Given the description of an element on the screen output the (x, y) to click on. 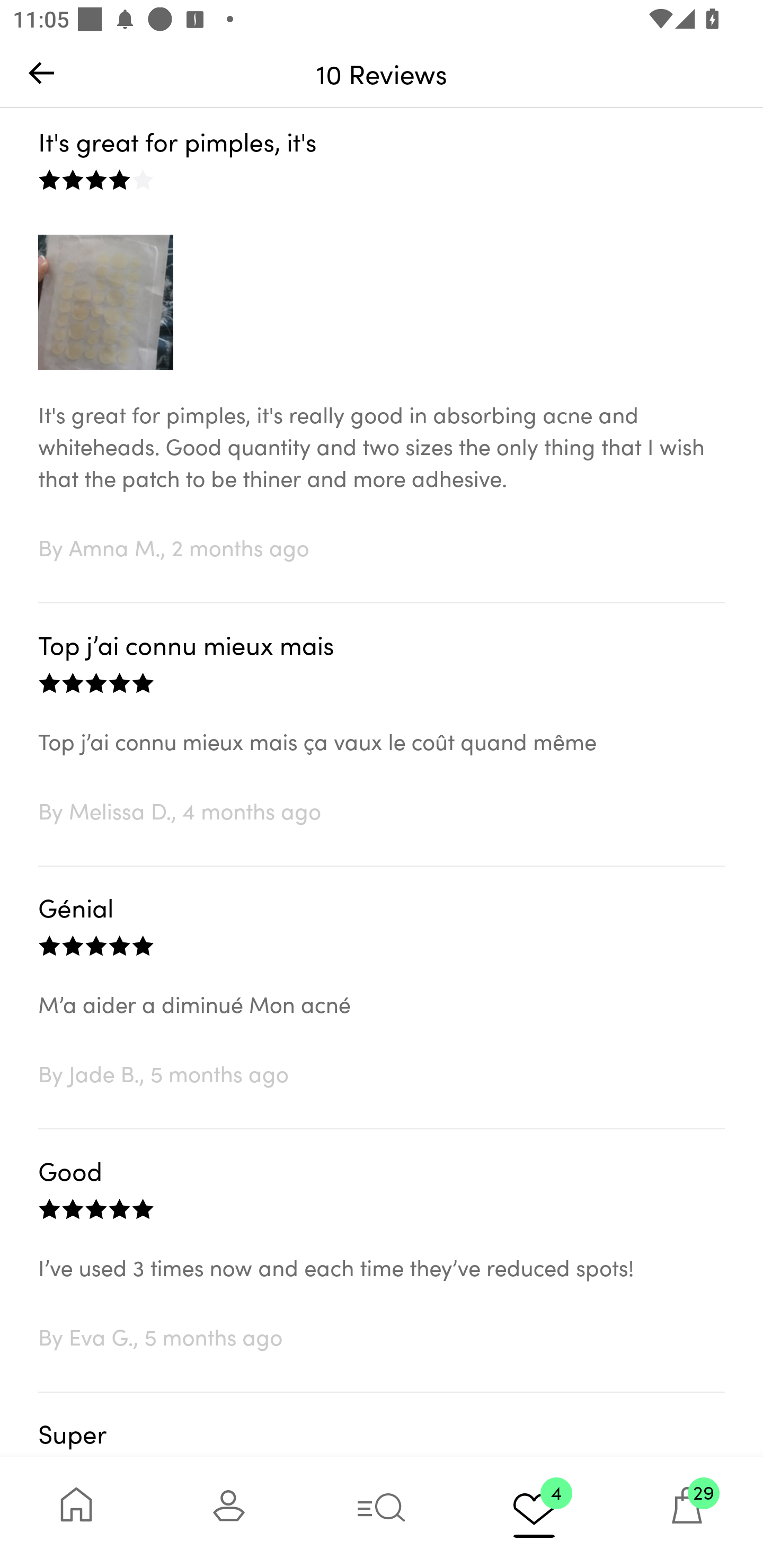
M’a aider a diminué Mon acné (381, 1022)
4 (533, 1512)
29 (686, 1512)
